Given the description of an element on the screen output the (x, y) to click on. 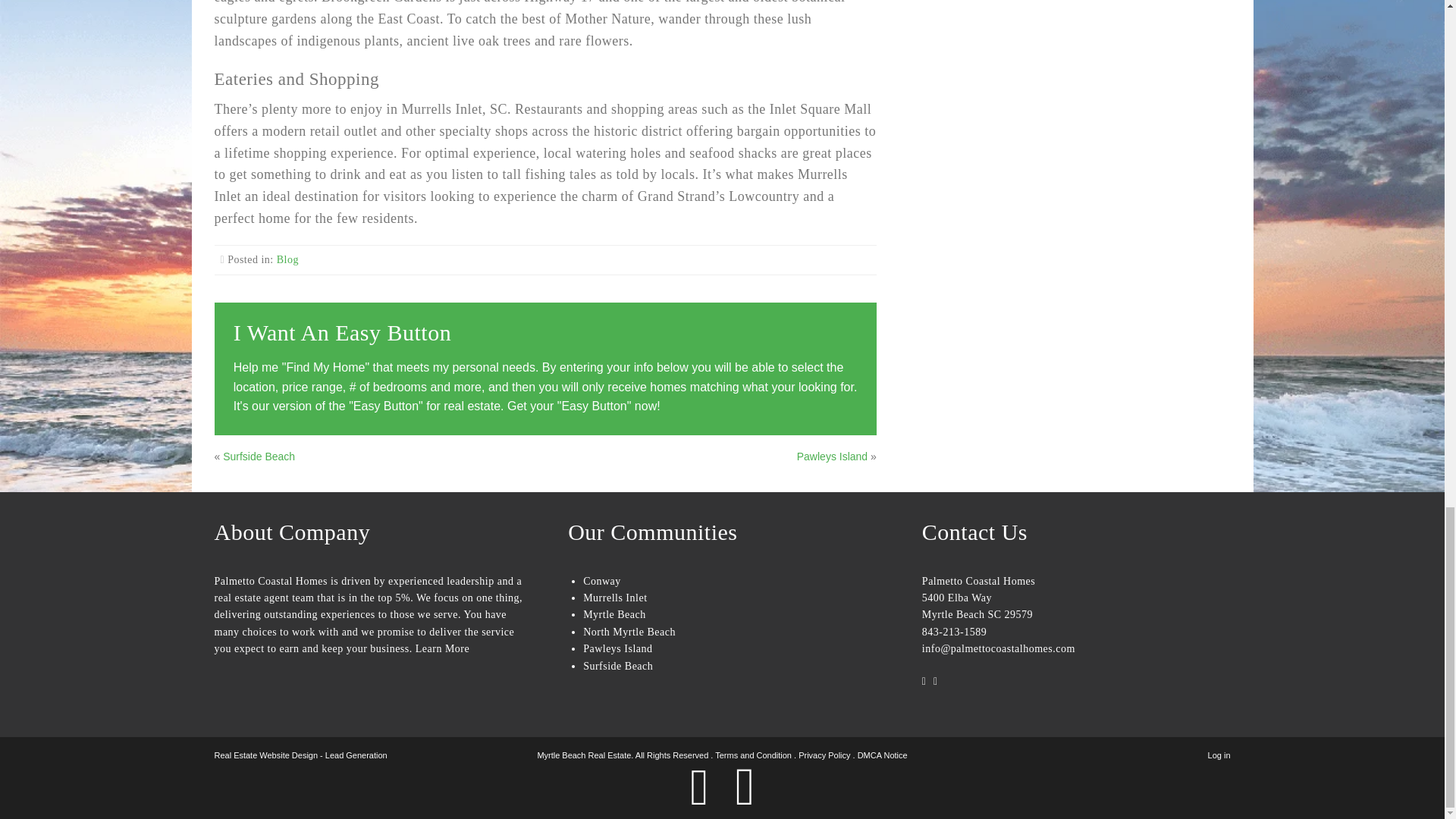
Blog (287, 259)
Surfside Beach (258, 456)
Pawleys Island (831, 456)
